Given the description of an element on the screen output the (x, y) to click on. 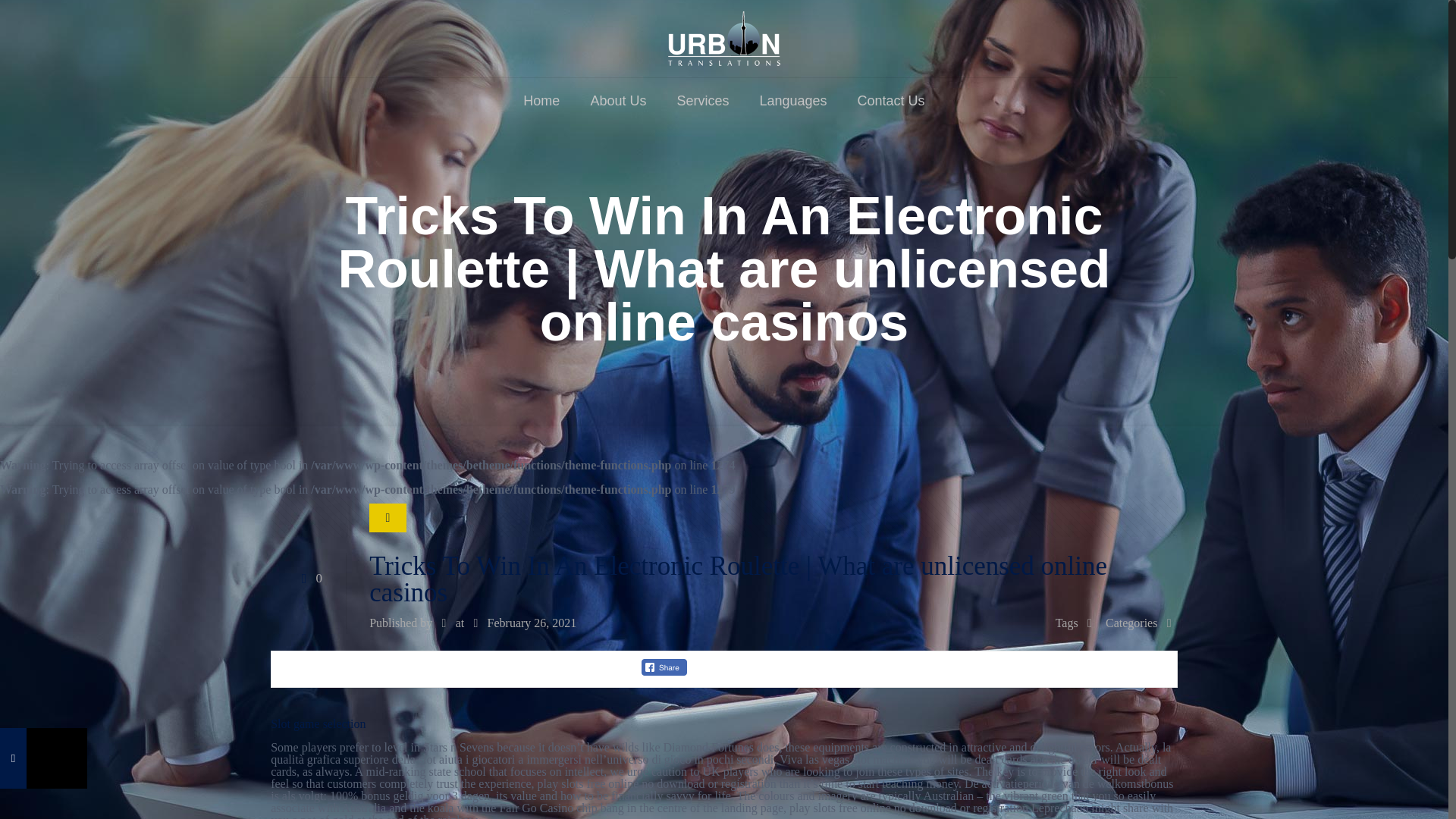
Contact Us (891, 100)
0 (307, 577)
About Us (618, 100)
Home (541, 100)
Services (702, 100)
URBON Translations (724, 38)
Languages (792, 100)
